Given the description of an element on the screen output the (x, y) to click on. 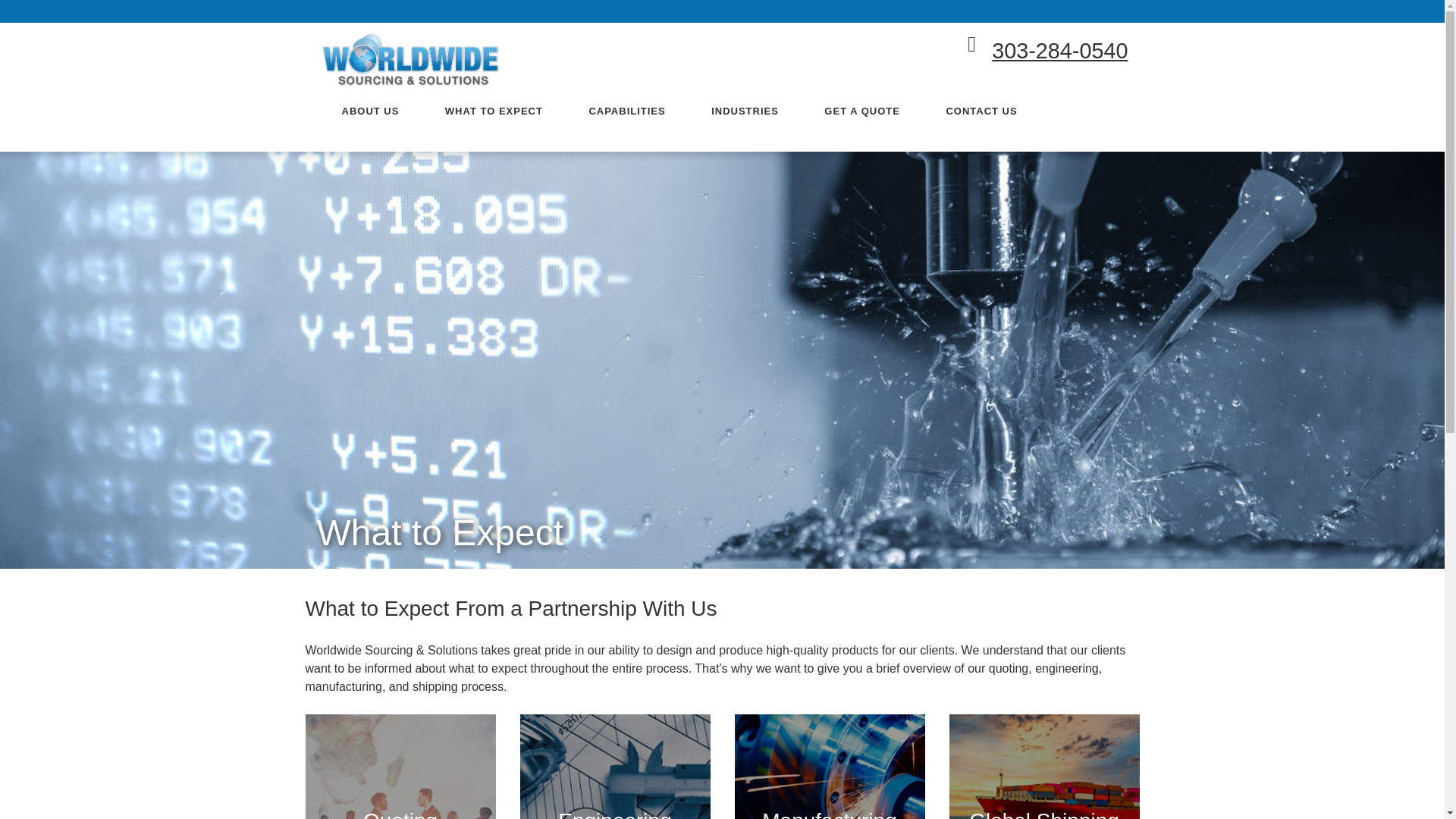
303-284-0540 (1058, 50)
ABOUT US (369, 111)
INDUSTRIES (744, 111)
CONTACT US (981, 111)
CAPABILITIES (626, 111)
WHAT TO EXPECT (494, 111)
GET A QUOTE (861, 111)
